Given the description of an element on the screen output the (x, y) to click on. 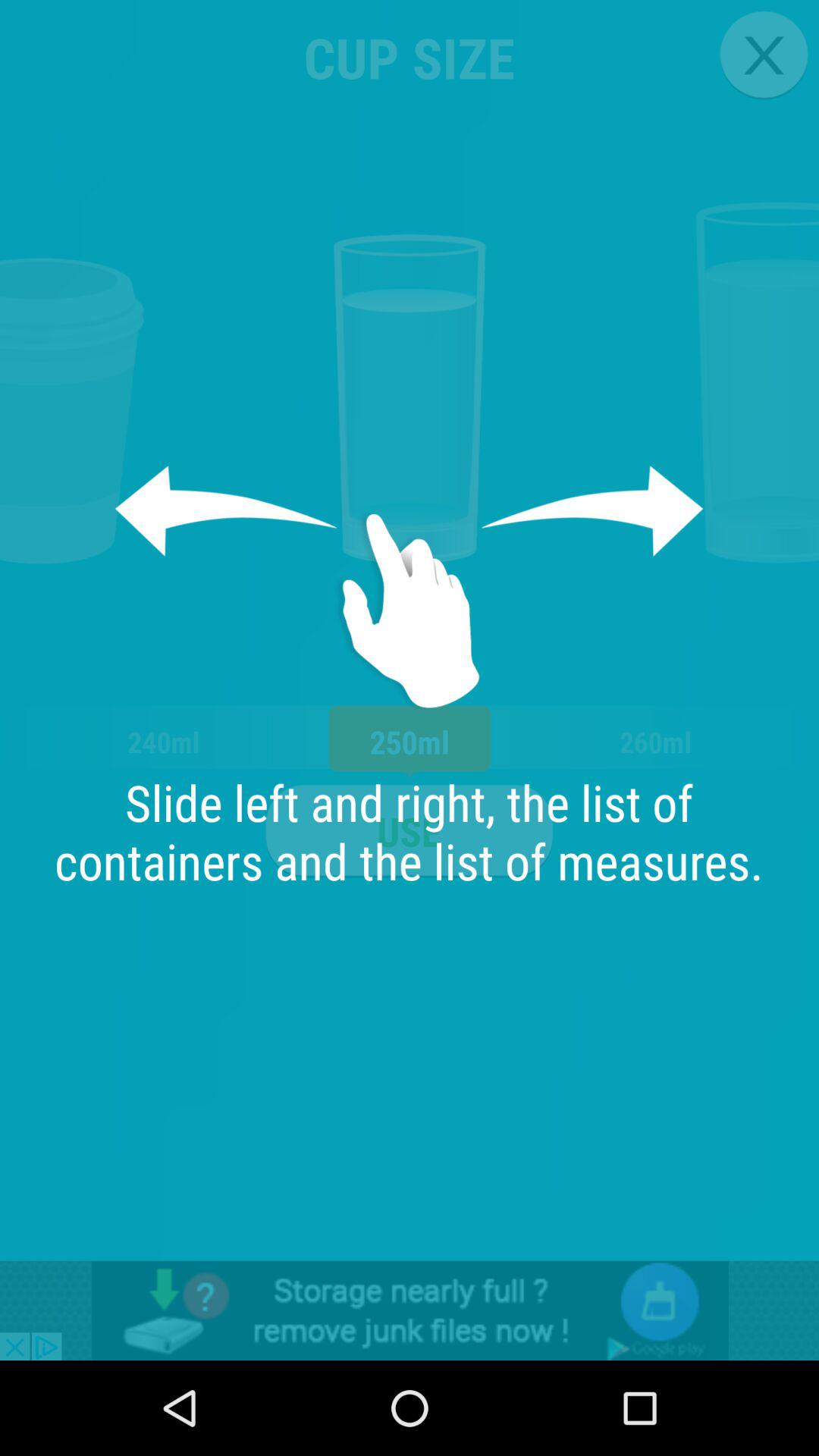
advertisement (409, 1310)
